Given the description of an element on the screen output the (x, y) to click on. 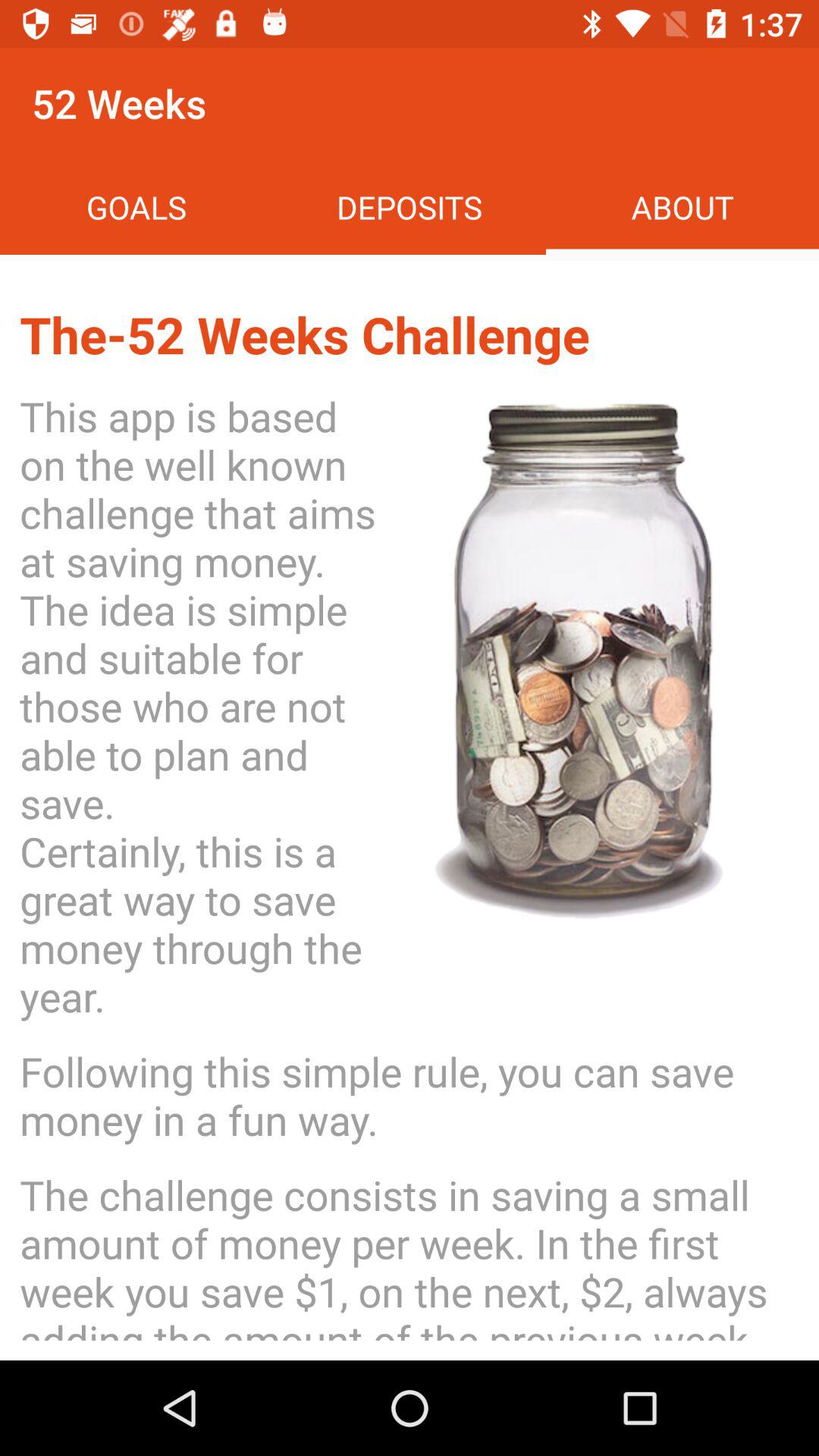
click the item to the left of deposits (136, 206)
